Given the description of an element on the screen output the (x, y) to click on. 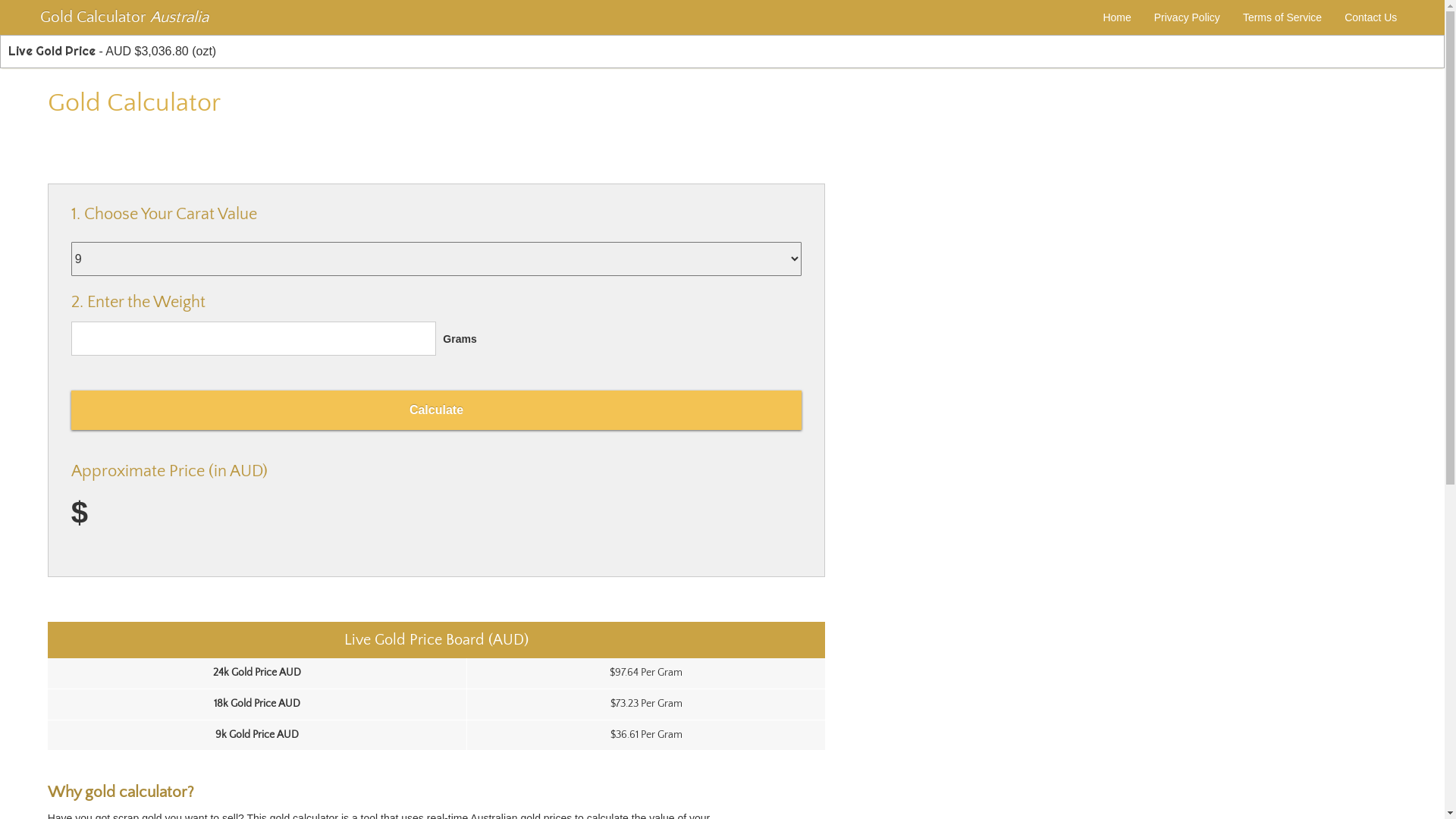
Privacy Policy Element type: text (1186, 17)
Gold Calculator Australia Element type: text (124, 17)
Home Element type: text (1116, 17)
Advertisement Element type: hover (224, 143)
Contact Us Element type: text (1370, 17)
Calculate Element type: text (436, 409)
Terms of Service Element type: text (1282, 17)
Advertisement Element type: hover (1179, 289)
